Given the description of an element on the screen output the (x, y) to click on. 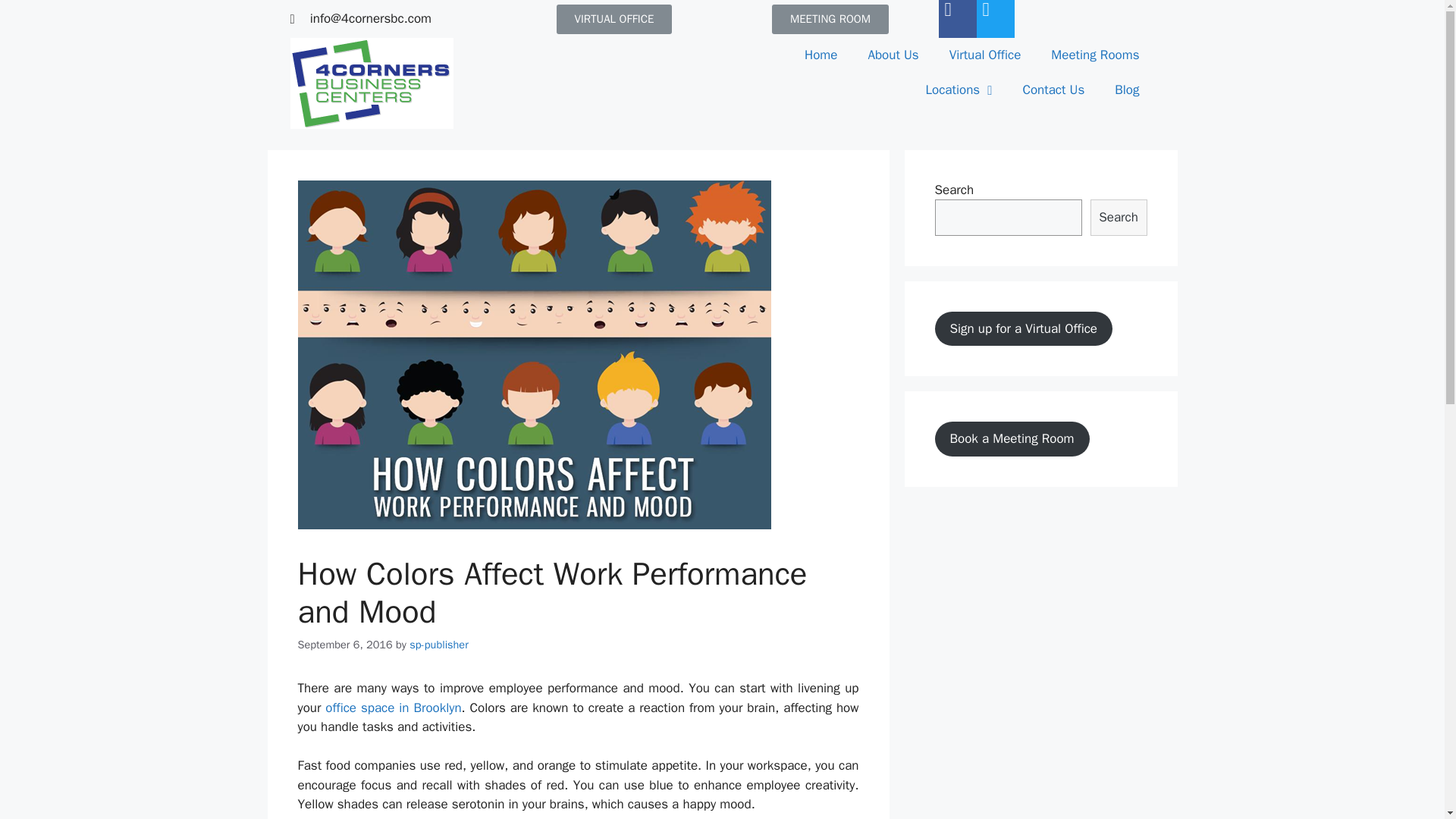
View all posts by sp-publisher (438, 643)
About Us (892, 54)
Contact Us (1053, 89)
Search (1118, 217)
MEETING ROOM (829, 19)
office space in Brooklyn (392, 707)
Virtual Office (985, 54)
Sign up for a Virtual Office (1023, 328)
Meeting Rooms (1094, 54)
Home (820, 54)
sp-publisher (438, 643)
Locations (959, 89)
Blog (1126, 89)
VIRTUAL OFFICE (614, 19)
